Given the description of an element on the screen output the (x, y) to click on. 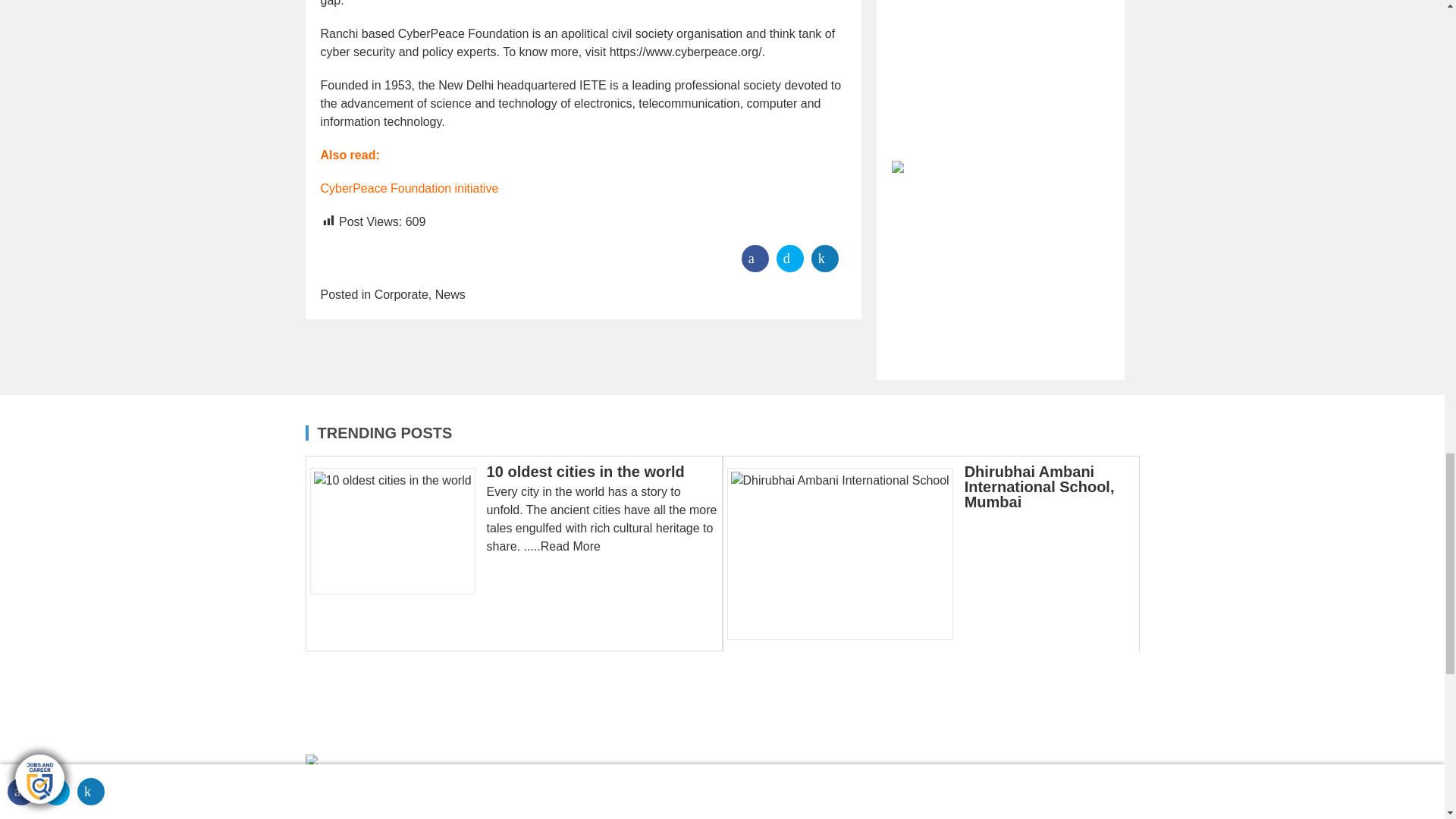
10 oldest cities in the world (585, 471)
Dhirubhai Ambani International School, Mumbai (844, 553)
10 oldest cities in the world (397, 530)
Dhirubhai Ambani International School, Mumbai (1039, 486)
